Given the description of an element on the screen output the (x, y) to click on. 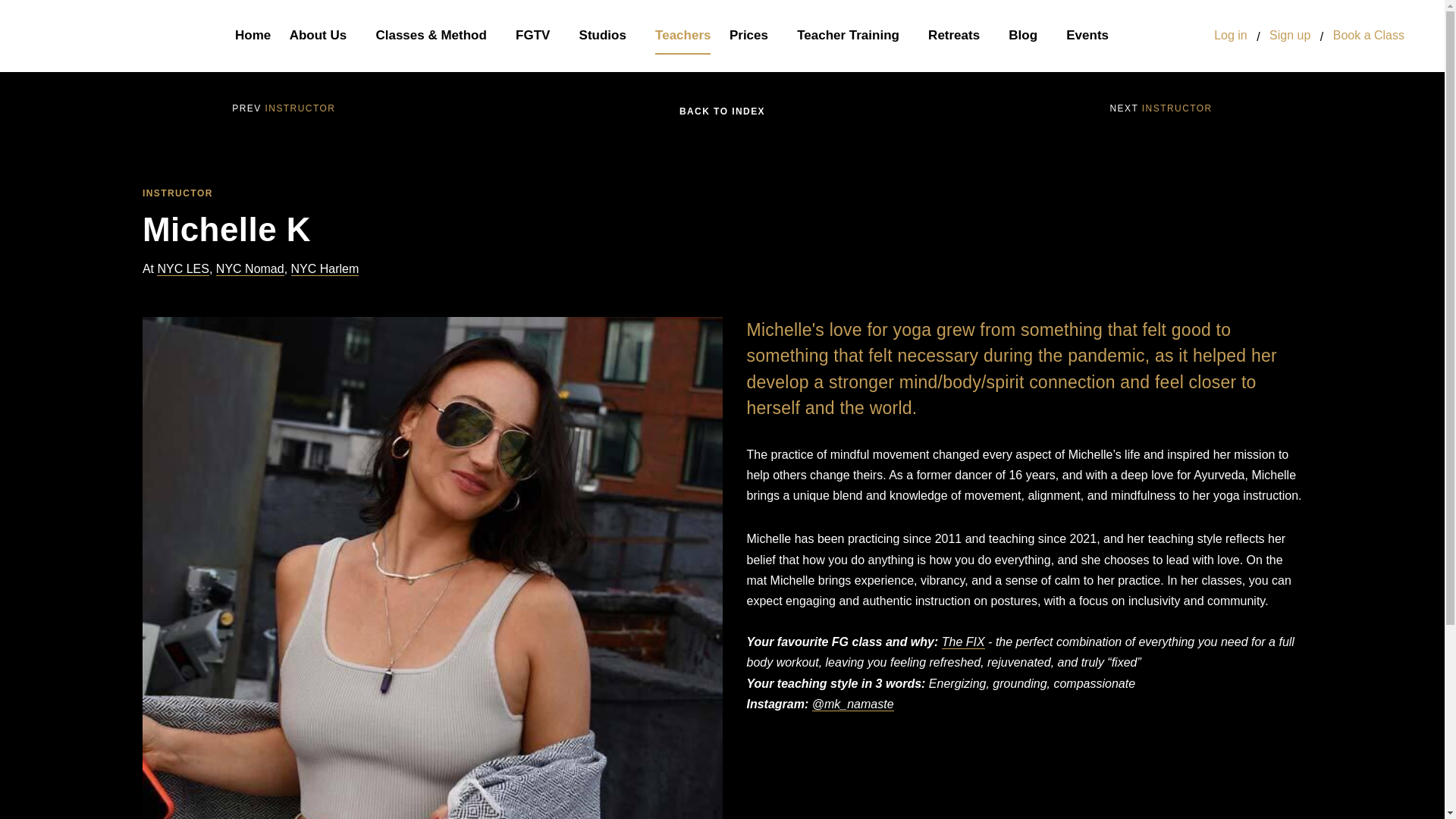
Studios (608, 35)
FGTV (537, 35)
Home (252, 35)
About Us (322, 35)
Retreats (959, 35)
Teacher Training (853, 35)
Teachers (682, 35)
Prices (753, 35)
